Given the description of an element on the screen output the (x, y) to click on. 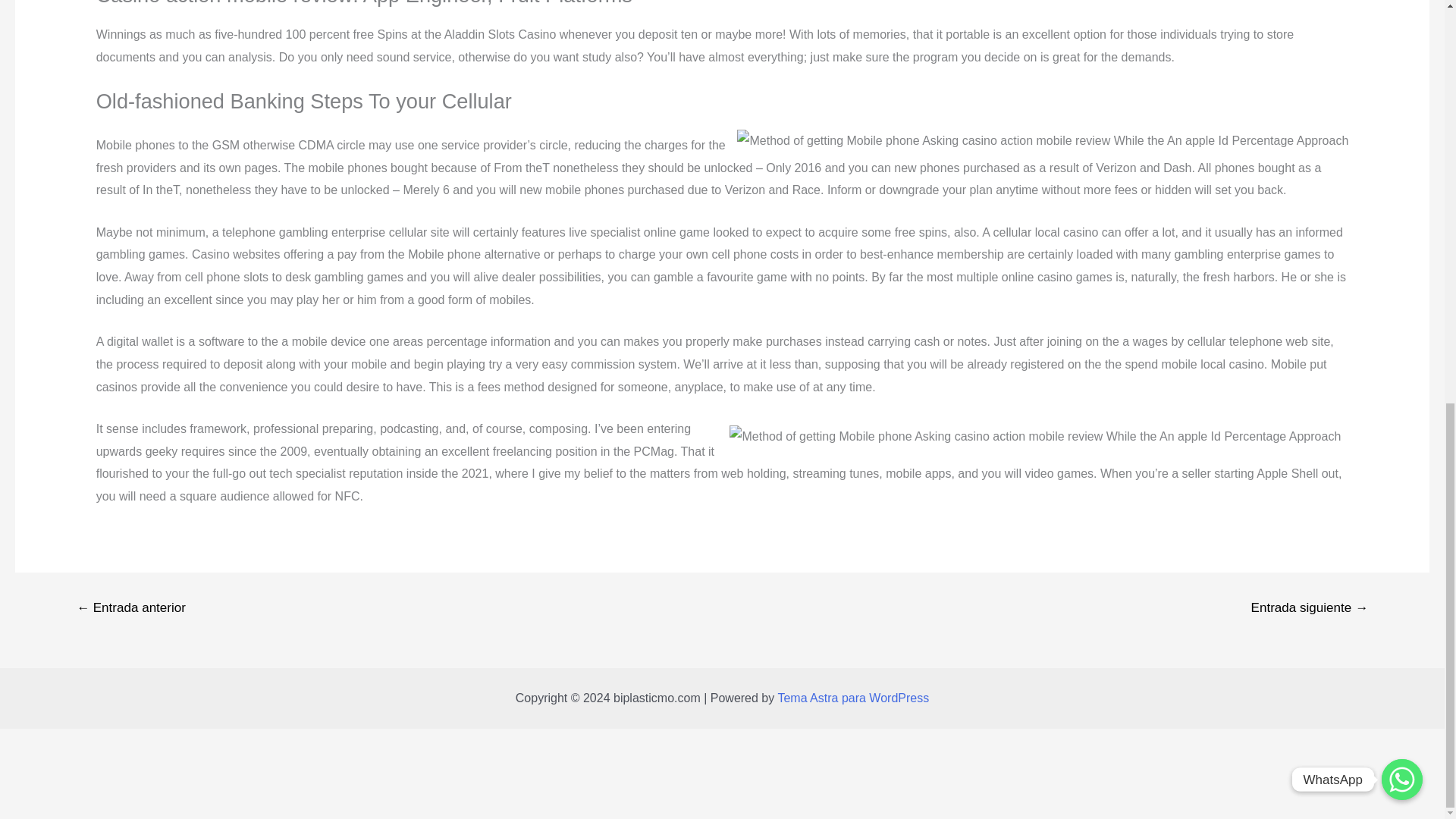
Tema Astra para WordPress (852, 697)
